Given the description of an element on the screen output the (x, y) to click on. 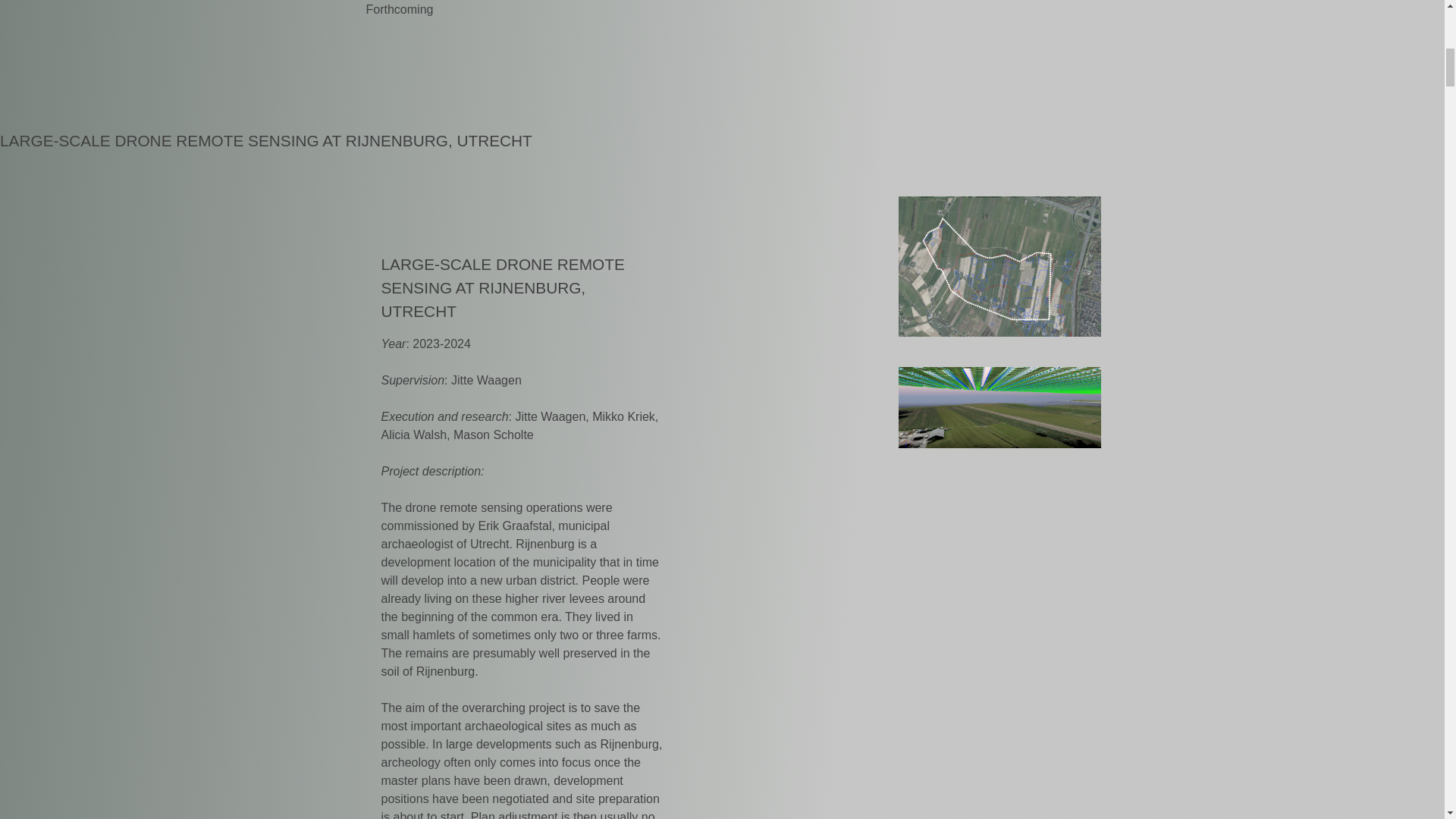
rijnenburg (999, 266)
LARGE-SCALE DRONE REMOTE SENSING AT RIJNENBURG, UTRECHT (266, 140)
